Given the description of an element on the screen output the (x, y) to click on. 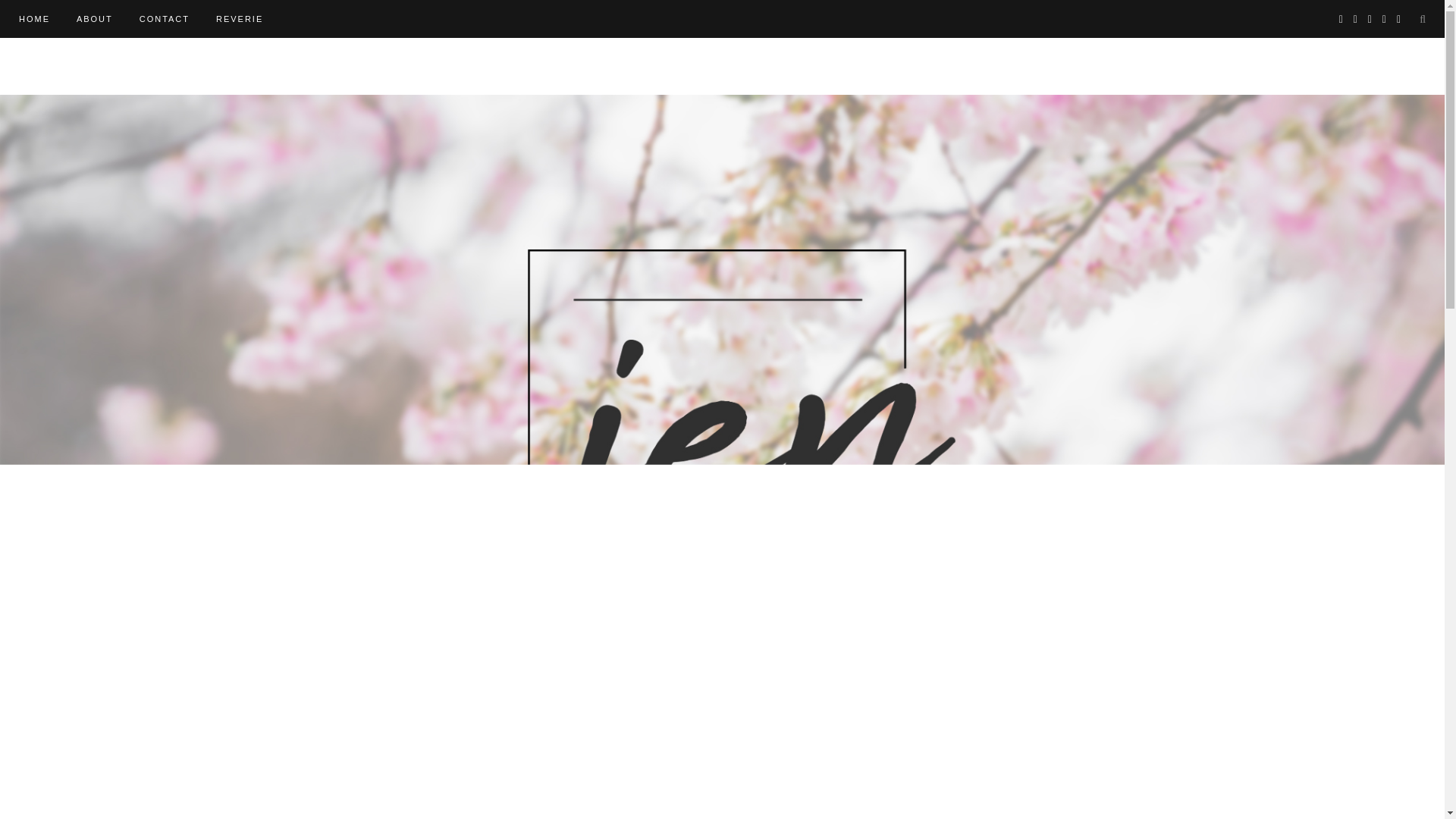
ABOUT (95, 18)
REVERIE (239, 18)
CONTACT (164, 18)
